Given the description of an element on the screen output the (x, y) to click on. 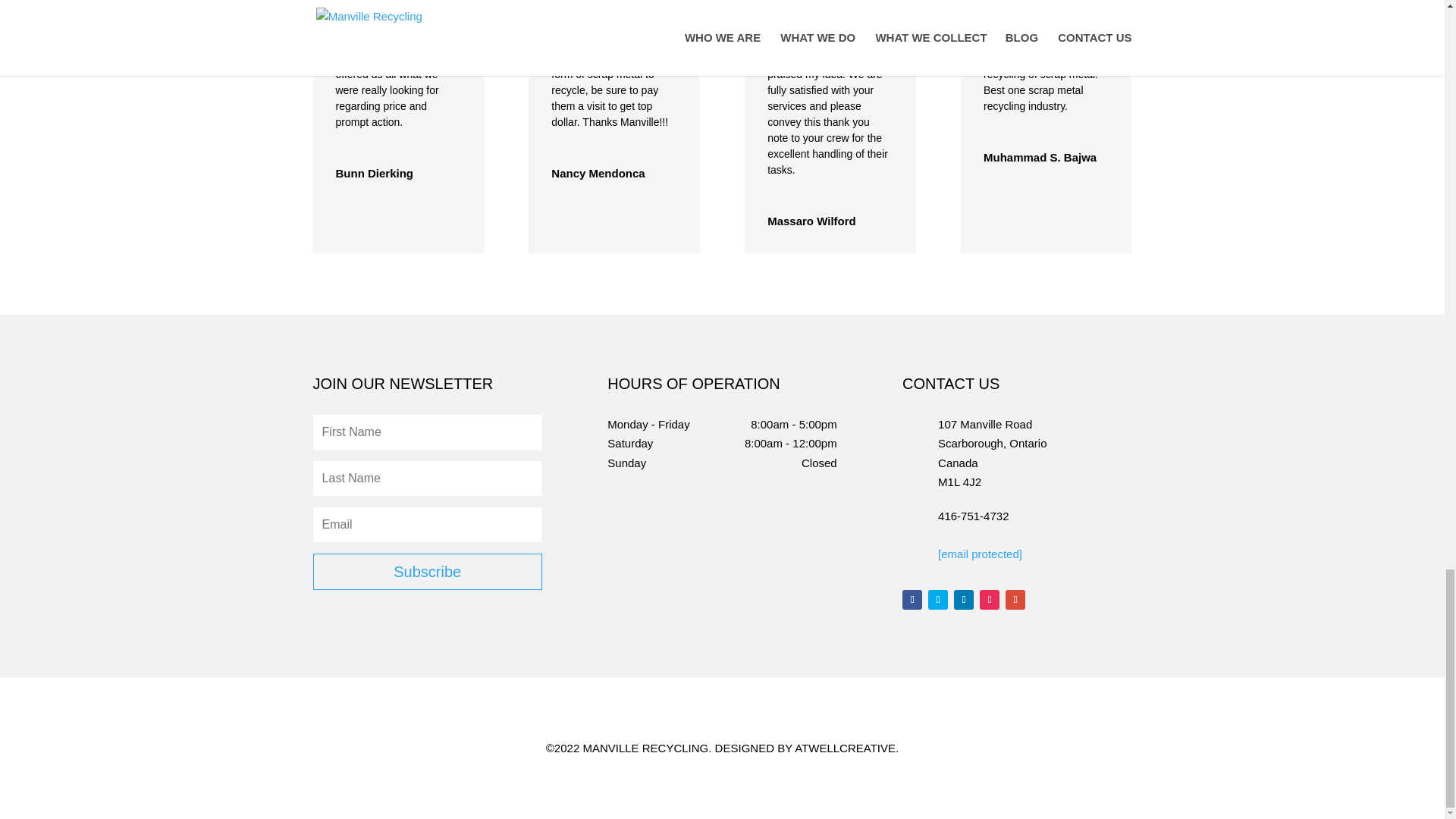
Follow on LinkedIn (963, 599)
Follow on Facebook (911, 599)
Follow on Twitter (937, 599)
Follow on Instagram (988, 599)
